Given the description of an element on the screen output the (x, y) to click on. 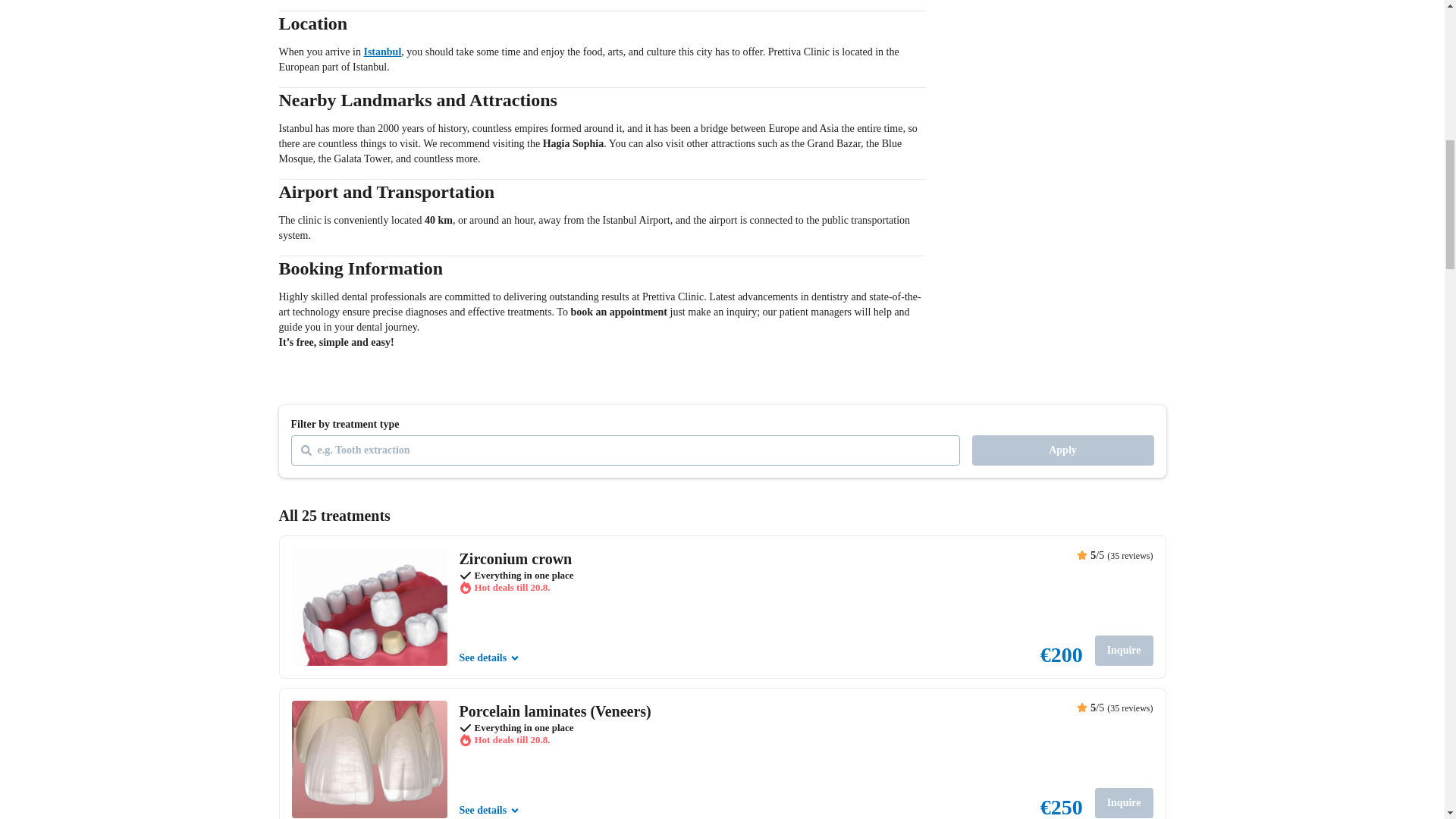
Inquire (1123, 802)
Zirconium crown (516, 558)
Inquire (1123, 650)
See details (490, 657)
Apply (1063, 450)
See details (490, 810)
Istanbul (381, 51)
